Given the description of an element on the screen output the (x, y) to click on. 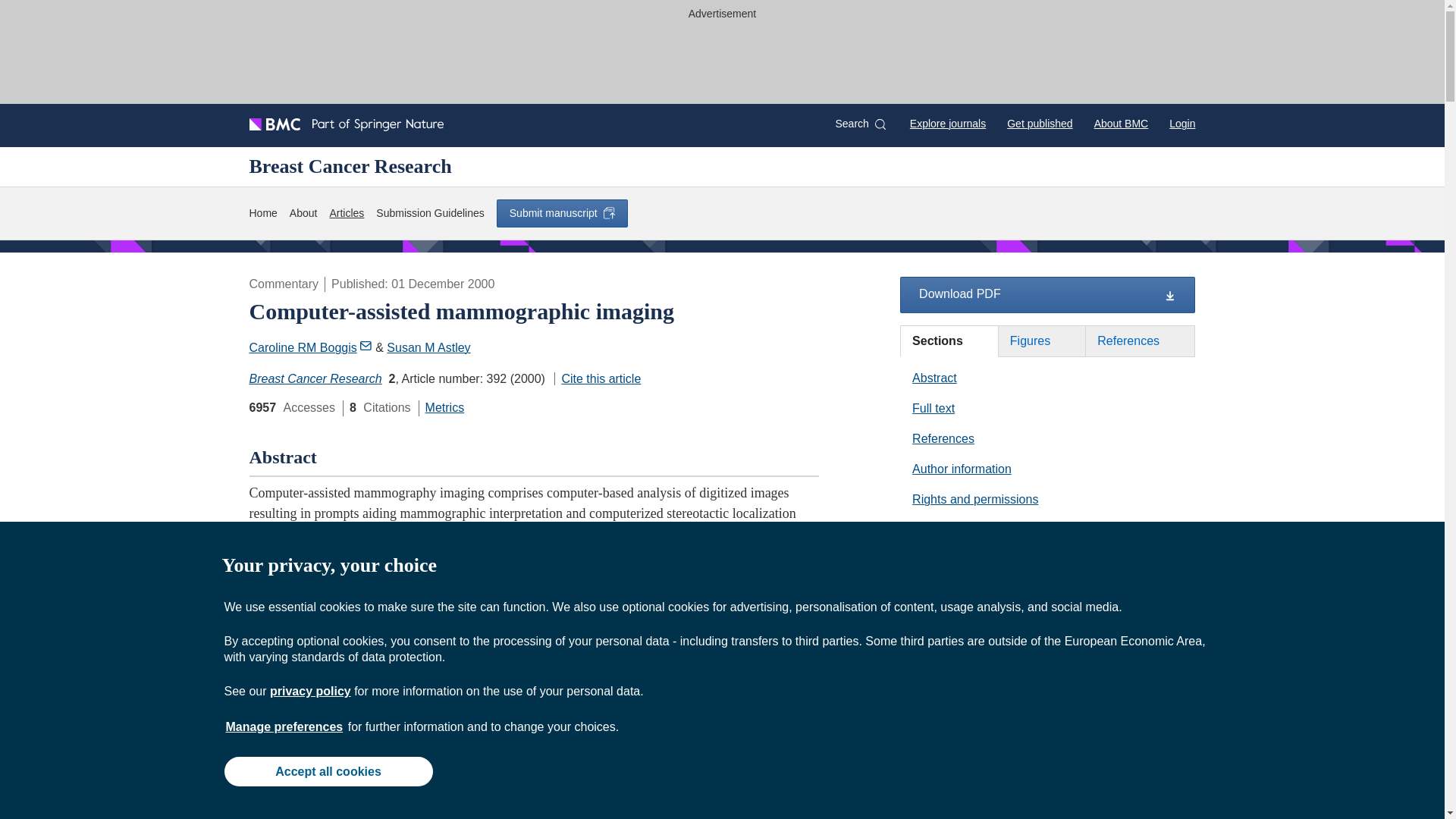
Get published (1039, 123)
Susan M Astley (428, 347)
Cite this article (597, 378)
About BMC (1121, 123)
Home (262, 212)
Accept all cookies (328, 771)
About (303, 212)
Articles (346, 212)
Metrics (444, 407)
